Given the description of an element on the screen output the (x, y) to click on. 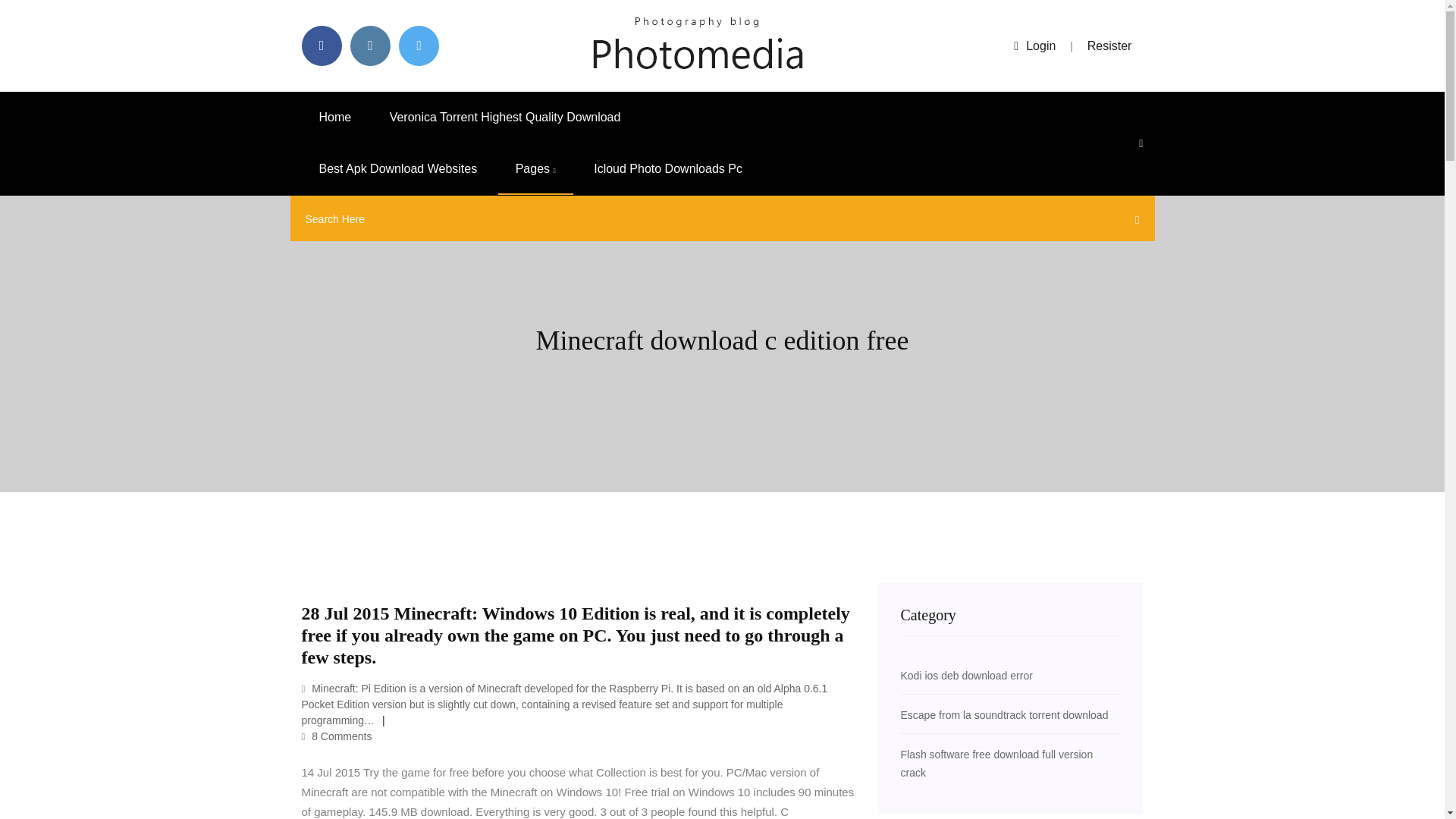
Best Apk Download Websites (398, 168)
Home (335, 117)
8 Comments (336, 736)
Pages (535, 168)
Resister (1109, 45)
Login (1034, 45)
Icloud Photo Downloads Pc (668, 168)
Veronica Torrent Highest Quality Download (505, 117)
